Given the description of an element on the screen output the (x, y) to click on. 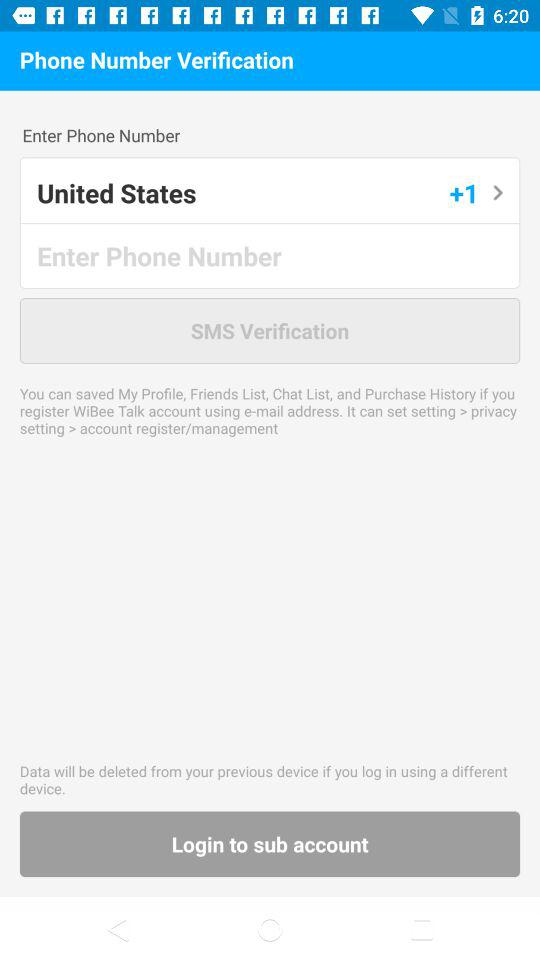
enter phone number (271, 255)
